Given the description of an element on the screen output the (x, y) to click on. 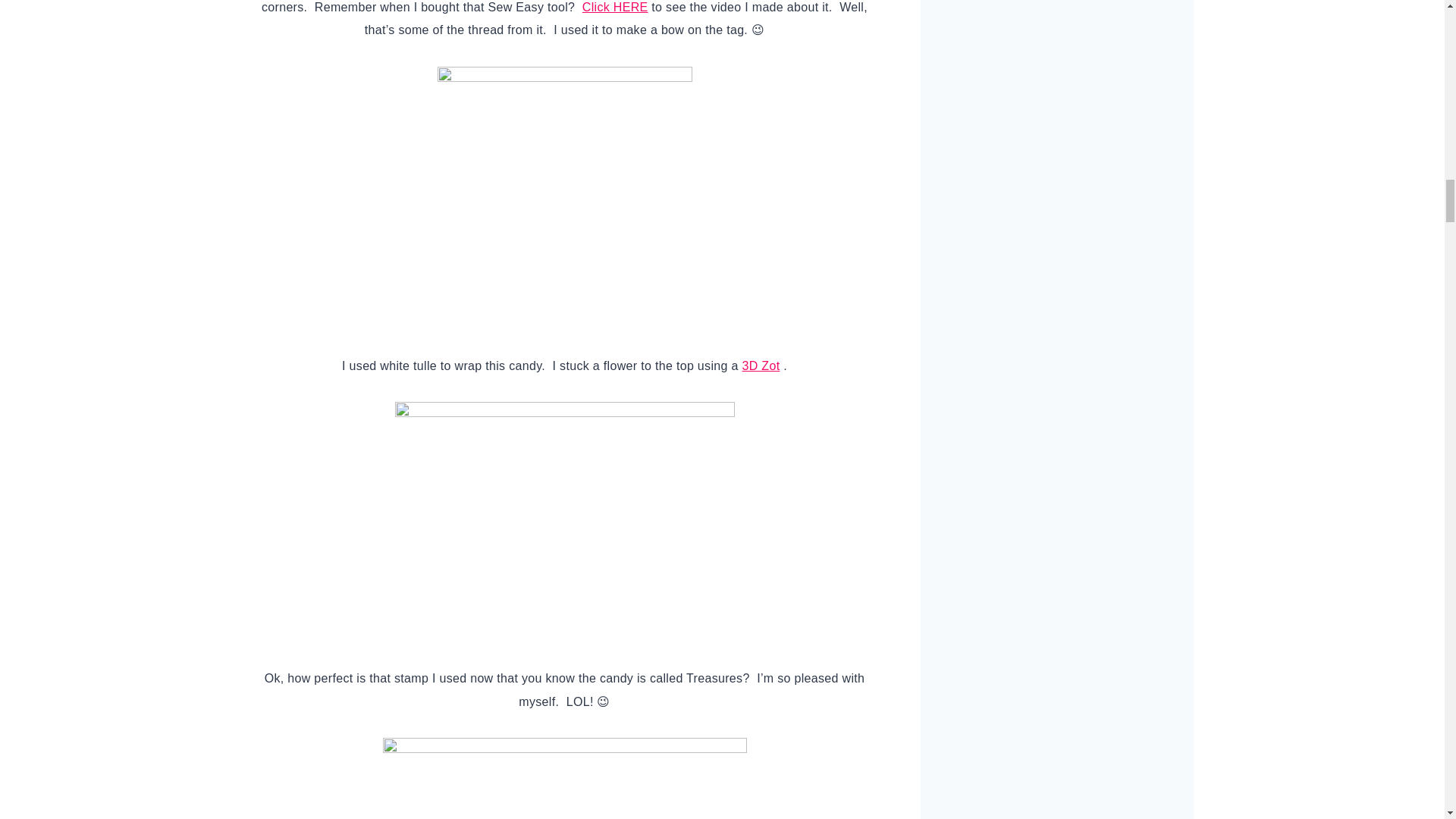
So pretty! (563, 778)
I love tulle! (563, 198)
